Given the description of an element on the screen output the (x, y) to click on. 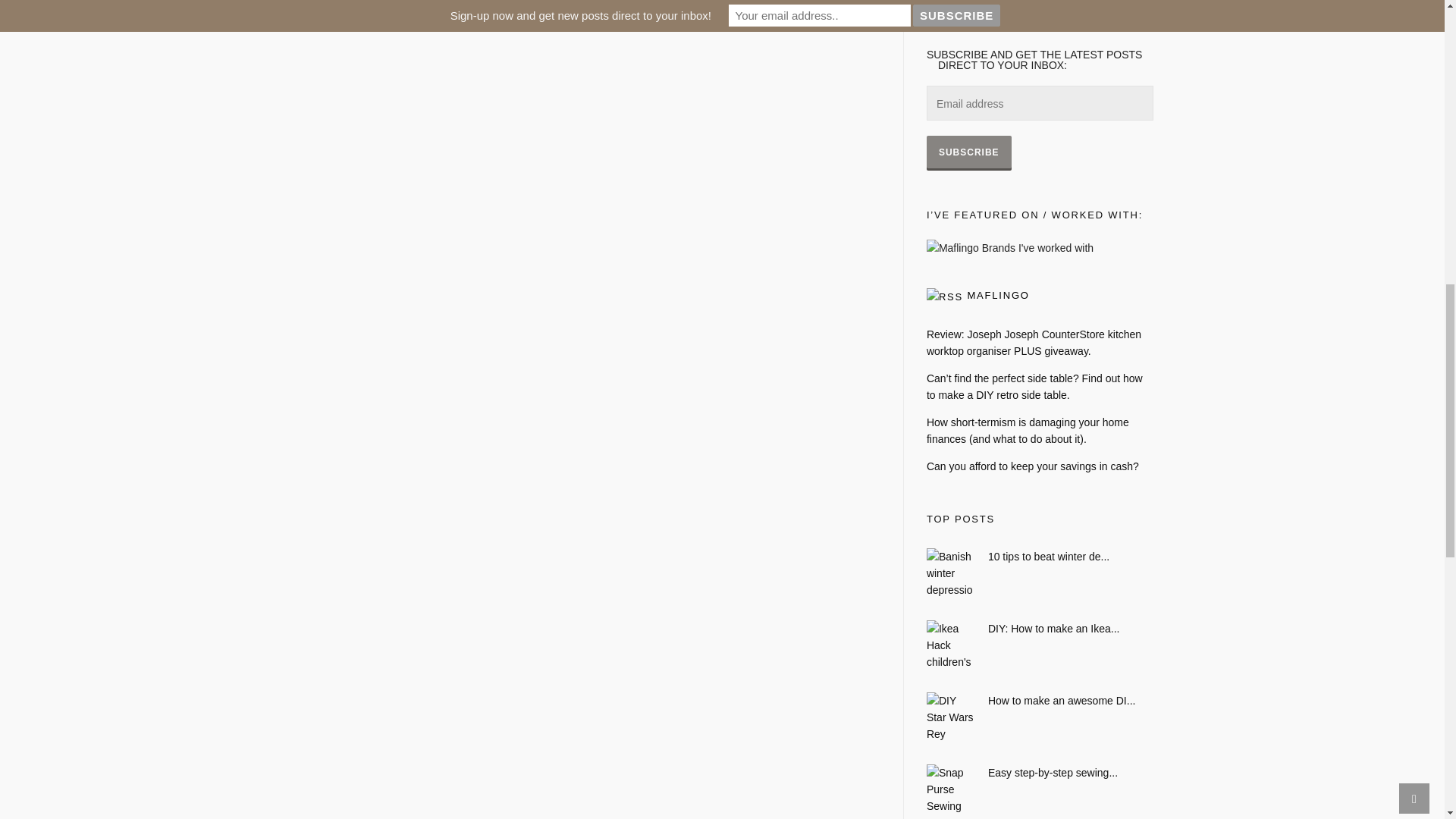
MAFLINGO (997, 295)
Subscribe (968, 151)
DIY: How to make an Ikea... (1040, 628)
10 tips to beat winter de... (1040, 556)
Can you afford to keep your savings in cash? (1040, 466)
Subscribe (968, 151)
Easy step-by-step sewing tutorial: How to make a snap purse. (1040, 772)
